Given the description of an element on the screen output the (x, y) to click on. 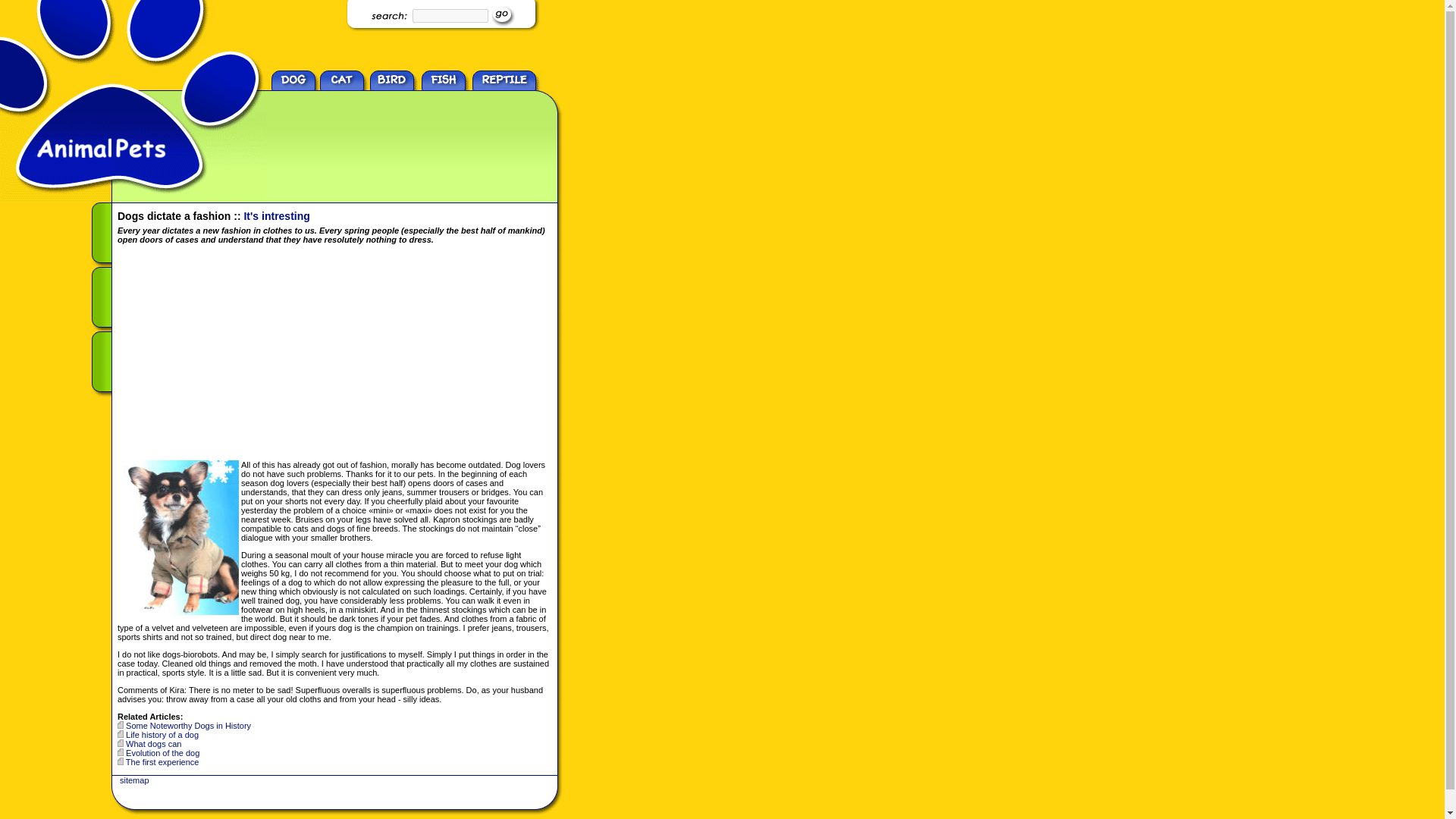
Advertisement (394, 135)
Advertisement (244, 354)
Life history of a dog (161, 734)
The first experience (162, 761)
sitemap (134, 779)
What dogs can (152, 743)
send (502, 15)
It's intresting (275, 215)
Evolution of the dog (162, 752)
Some Noteworthy Dogs in History (187, 725)
